Given the description of an element on the screen output the (x, y) to click on. 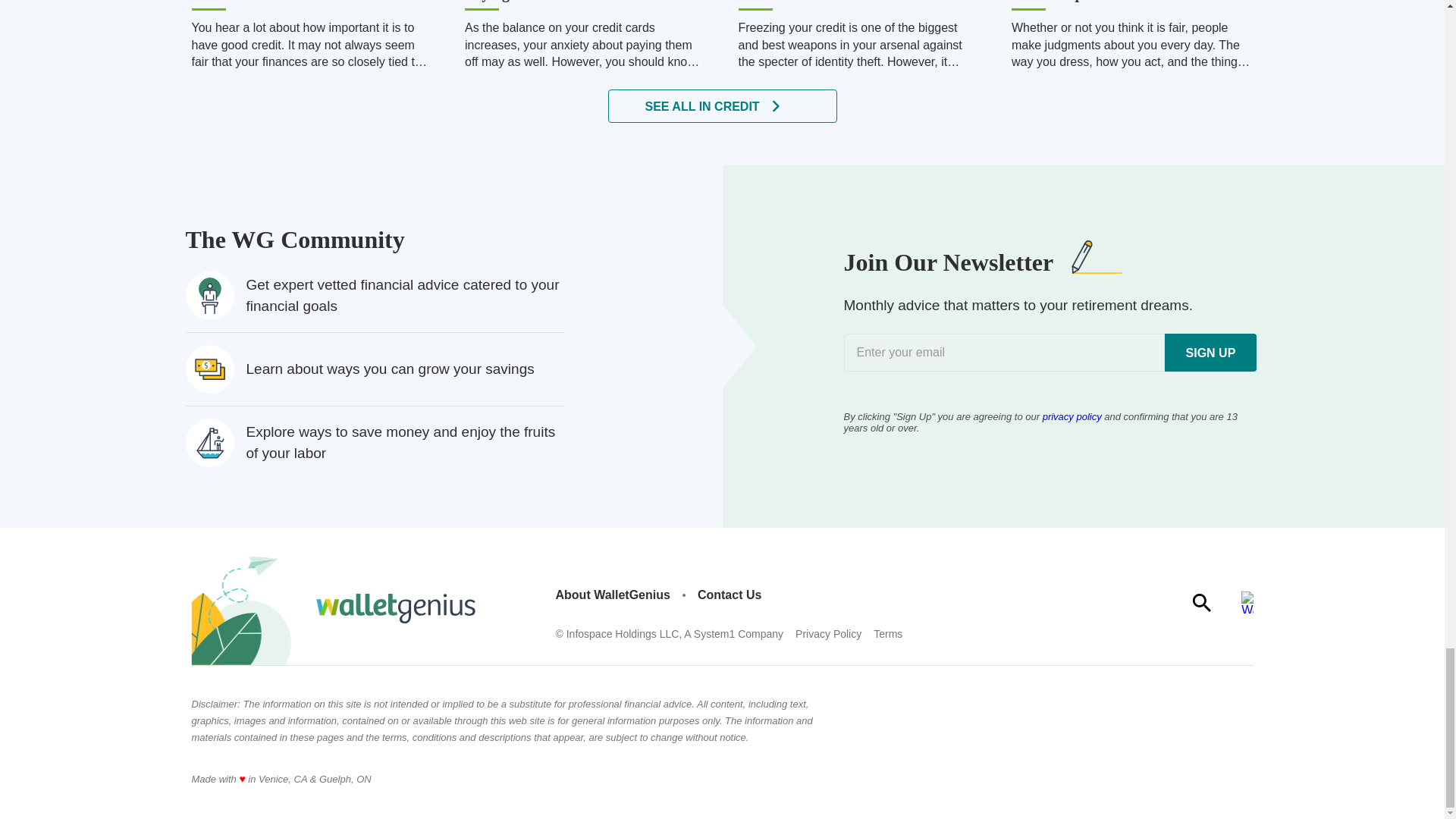
Join our Newsletter (1049, 352)
